Given the description of an element on the screen output the (x, y) to click on. 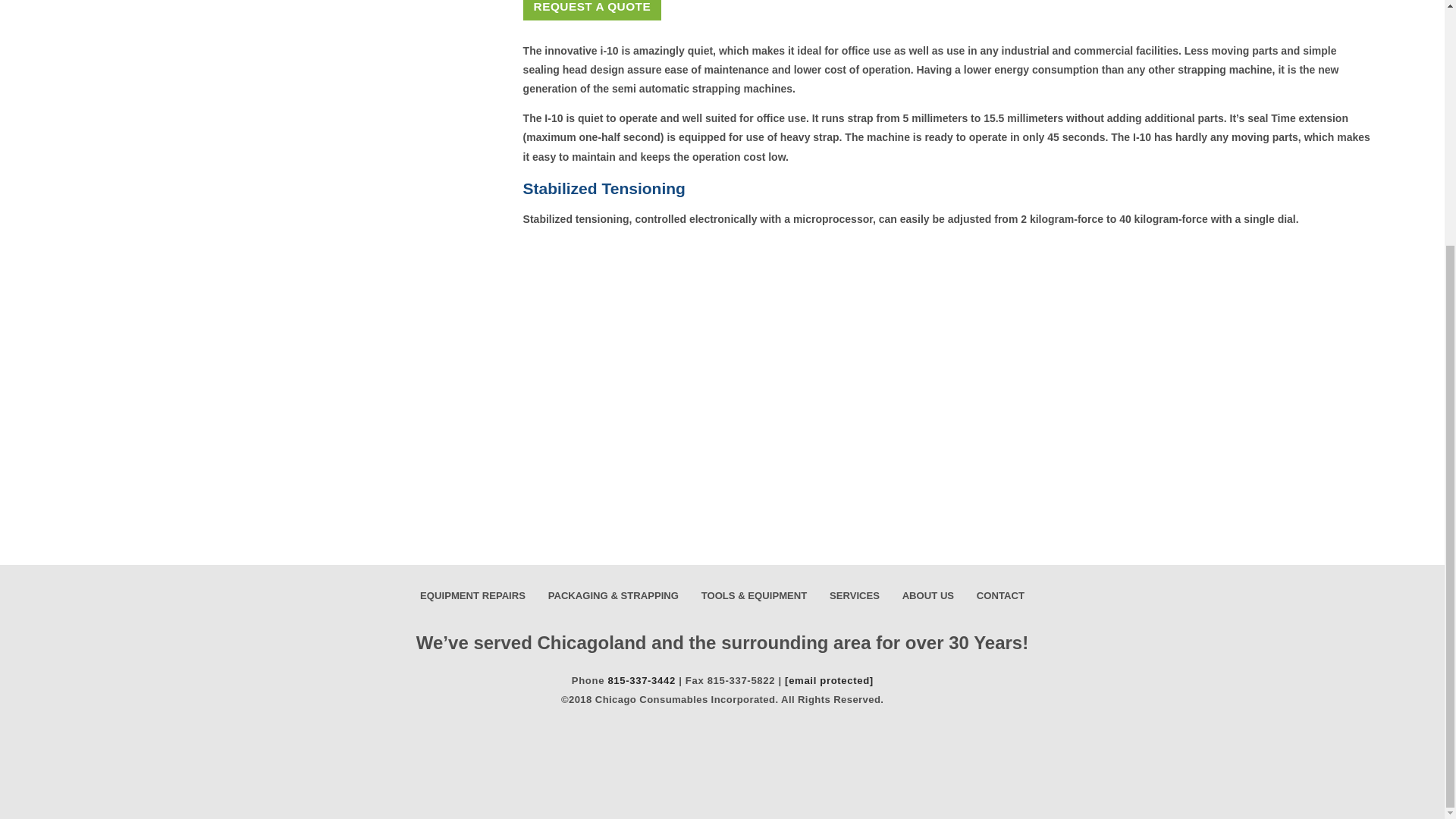
SERVICES (854, 595)
815-337-3442 (641, 680)
ABOUT US (928, 595)
EQUIPMENT REPAIRS (473, 595)
REQUEST A QUOTE (591, 9)
CONTACT (1000, 595)
